Given the description of an element on the screen output the (x, y) to click on. 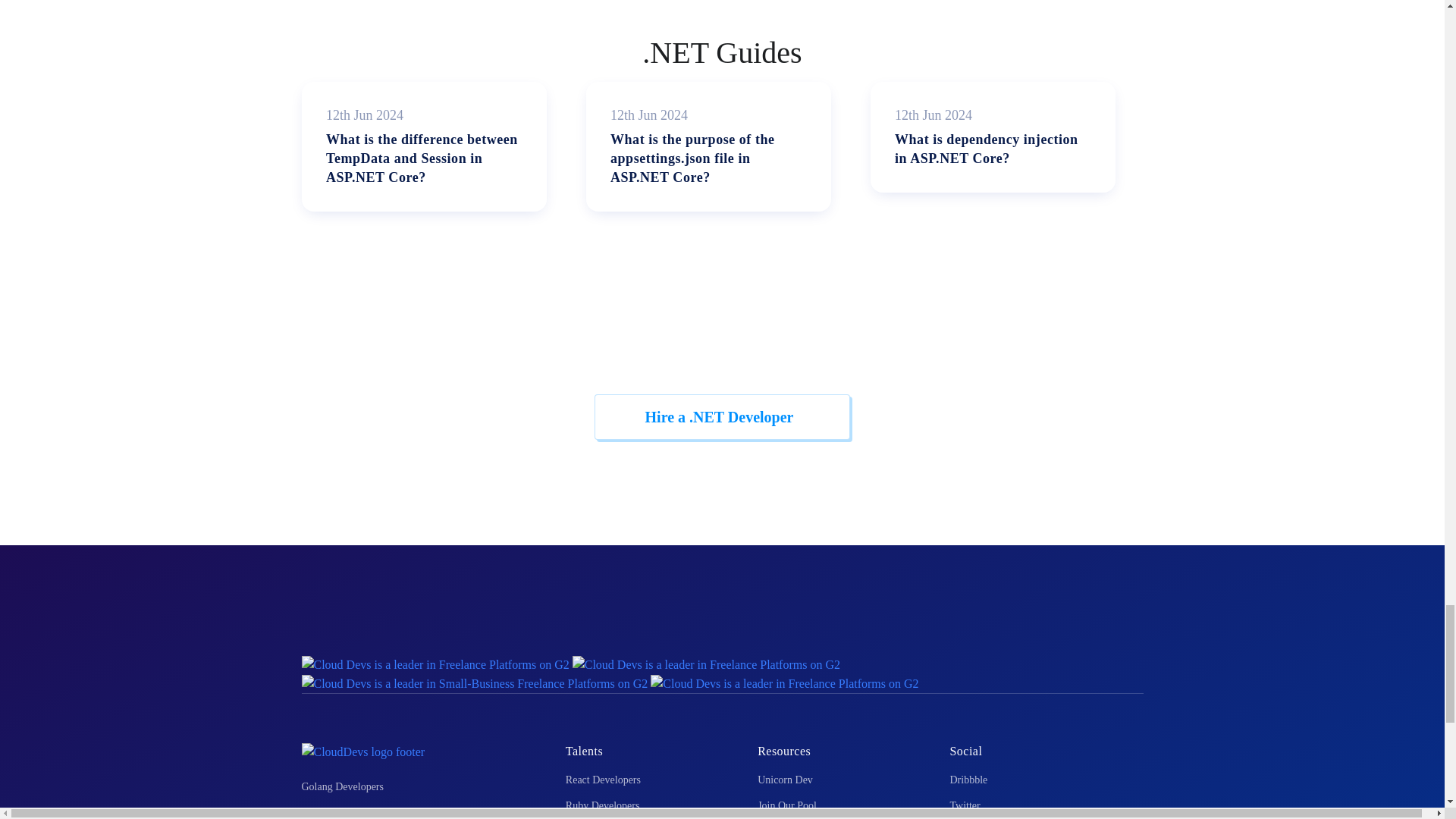
Cloud Devs is a leader in Freelance Platforms on G2 (784, 682)
Cloud Devs is a leader in Freelance Platforms on G2 (706, 662)
Cloud Devs is a leader in Freelance Platforms on G2 (435, 662)
Hire a .NET Developer (992, 136)
